Given the description of an element on the screen output the (x, y) to click on. 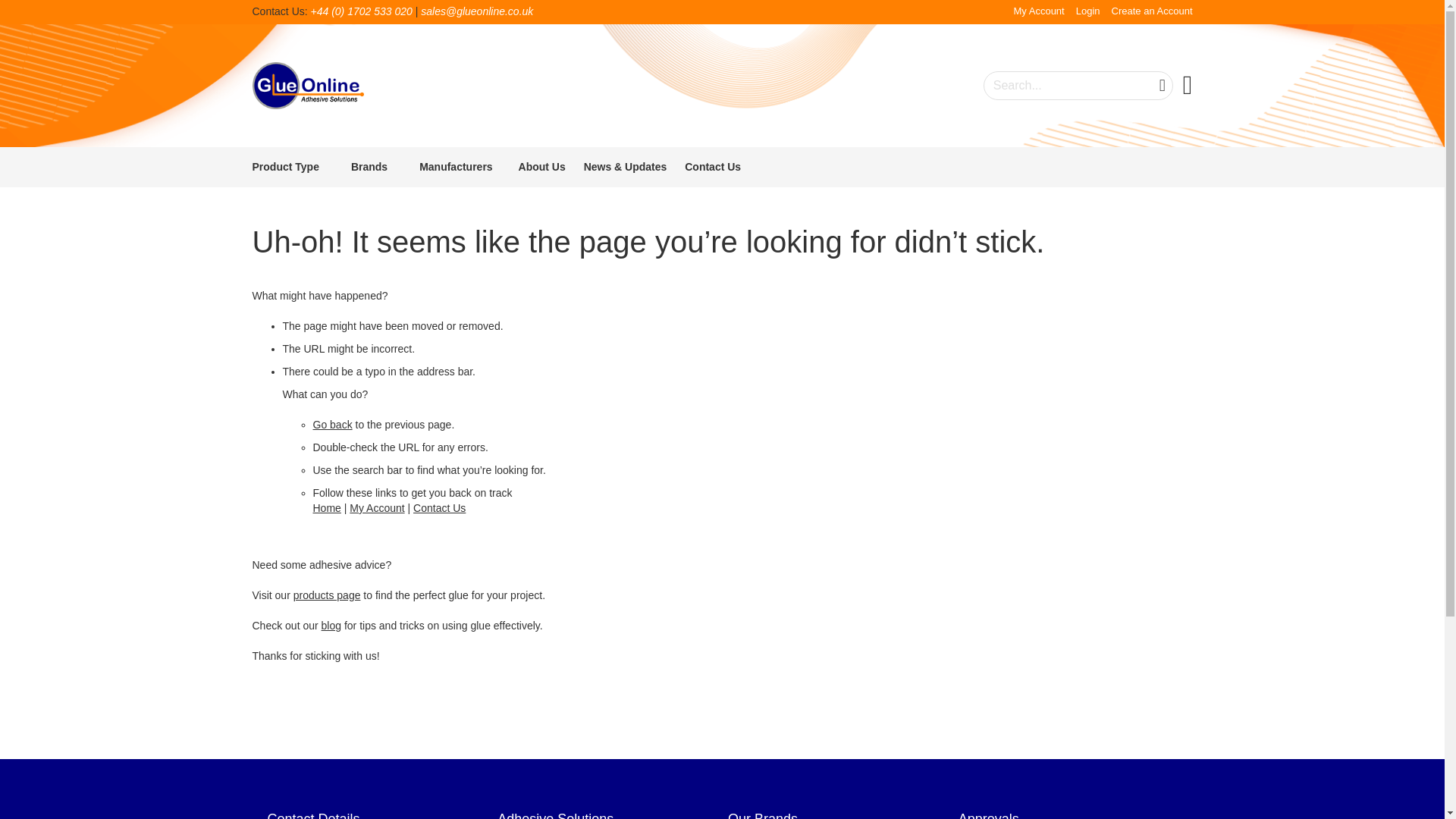
Glue Online (307, 85)
News (330, 625)
Product Type (288, 167)
My Account (1038, 10)
Call us (361, 10)
Create an Account (1152, 10)
Products Page (327, 594)
Manufacturers (458, 167)
Brands (372, 167)
Login (1087, 10)
